Given the description of an element on the screen output the (x, y) to click on. 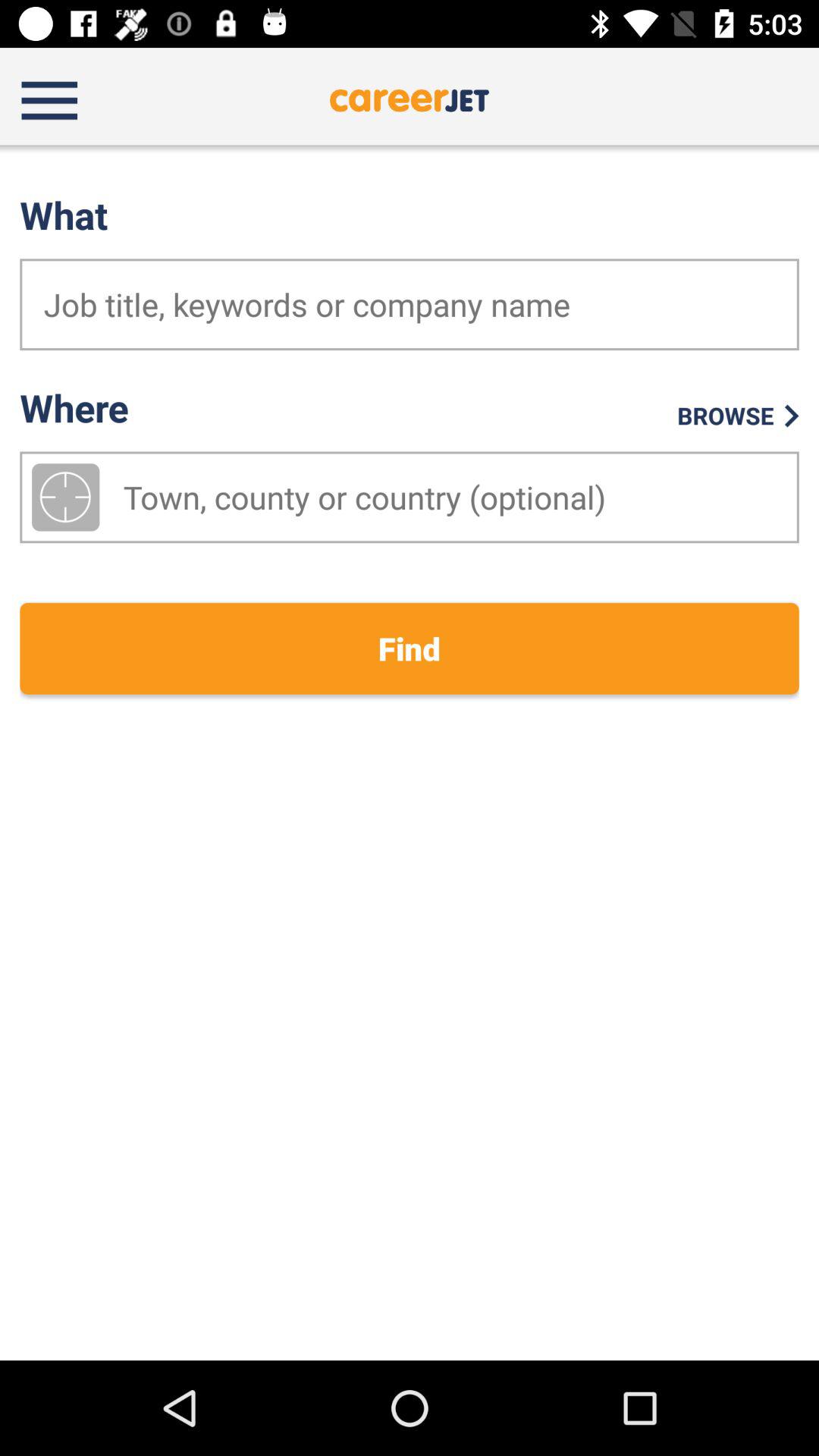
enter keywords for what you are looking for (409, 304)
